Given the description of an element on the screen output the (x, y) to click on. 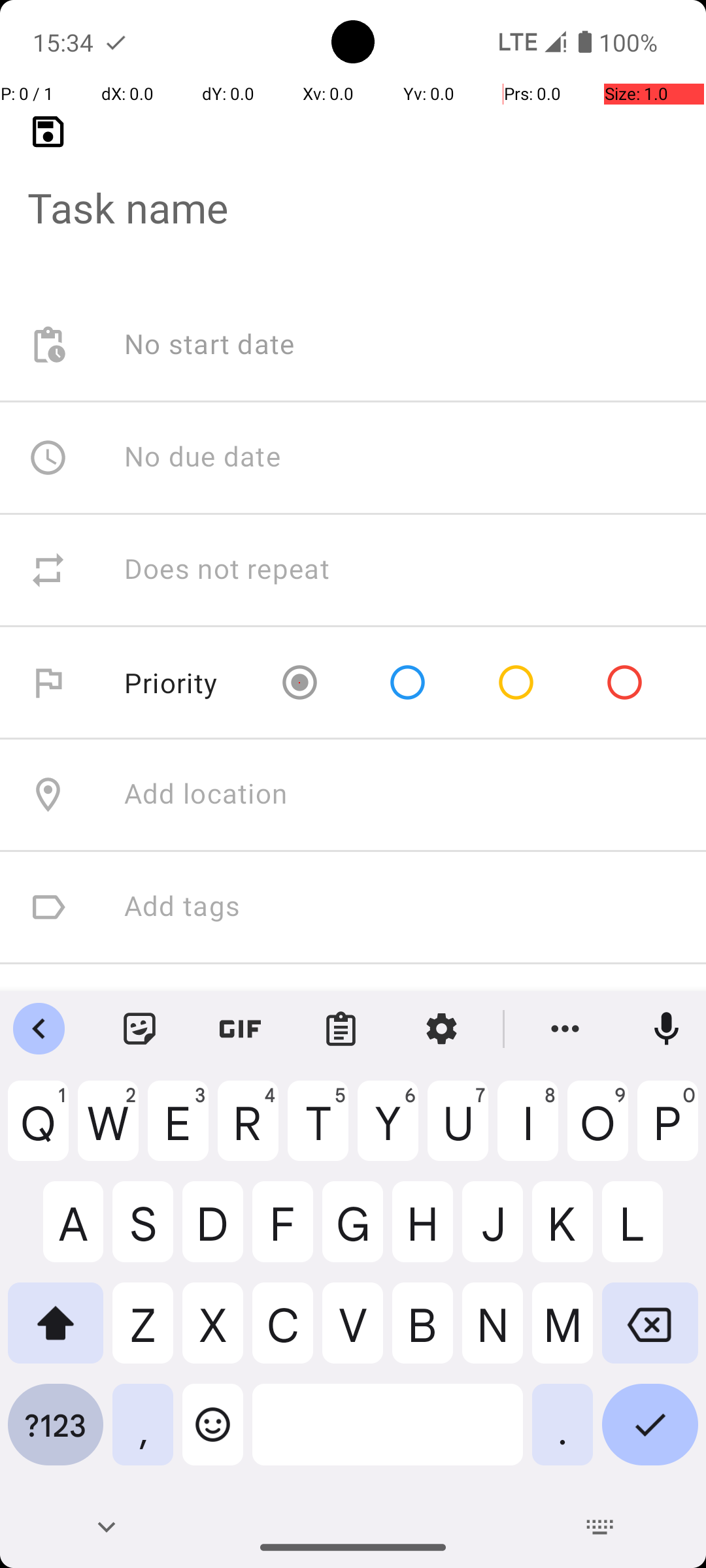
Task name Element type: android.widget.EditText (353, 186)
No due date Element type: android.widget.TextView (202, 457)
No start date Element type: android.widget.TextView (209, 344)
